Given the description of an element on the screen output the (x, y) to click on. 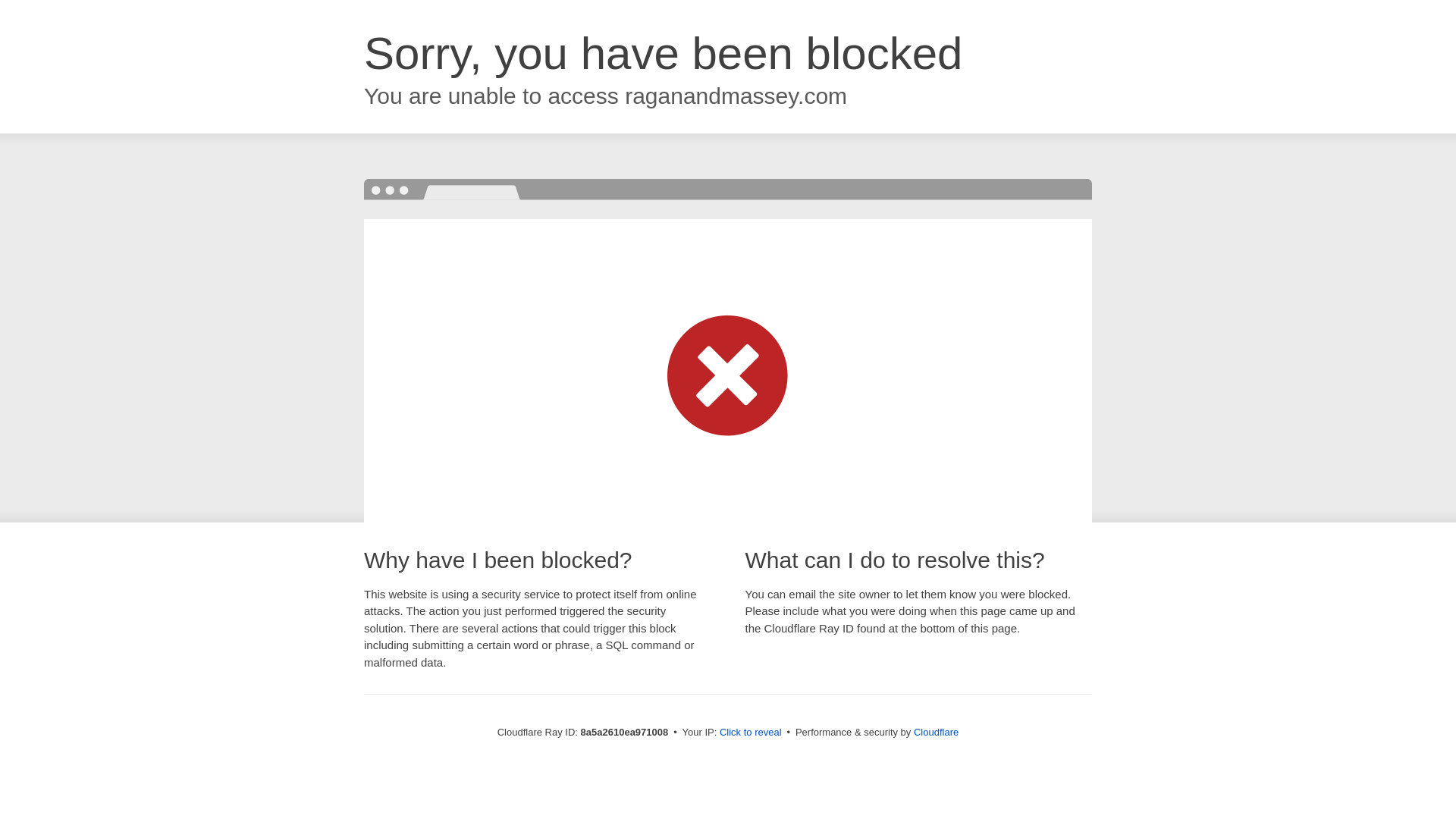
Click to reveal (750, 732)
Cloudflare (936, 731)
